Given the description of an element on the screen output the (x, y) to click on. 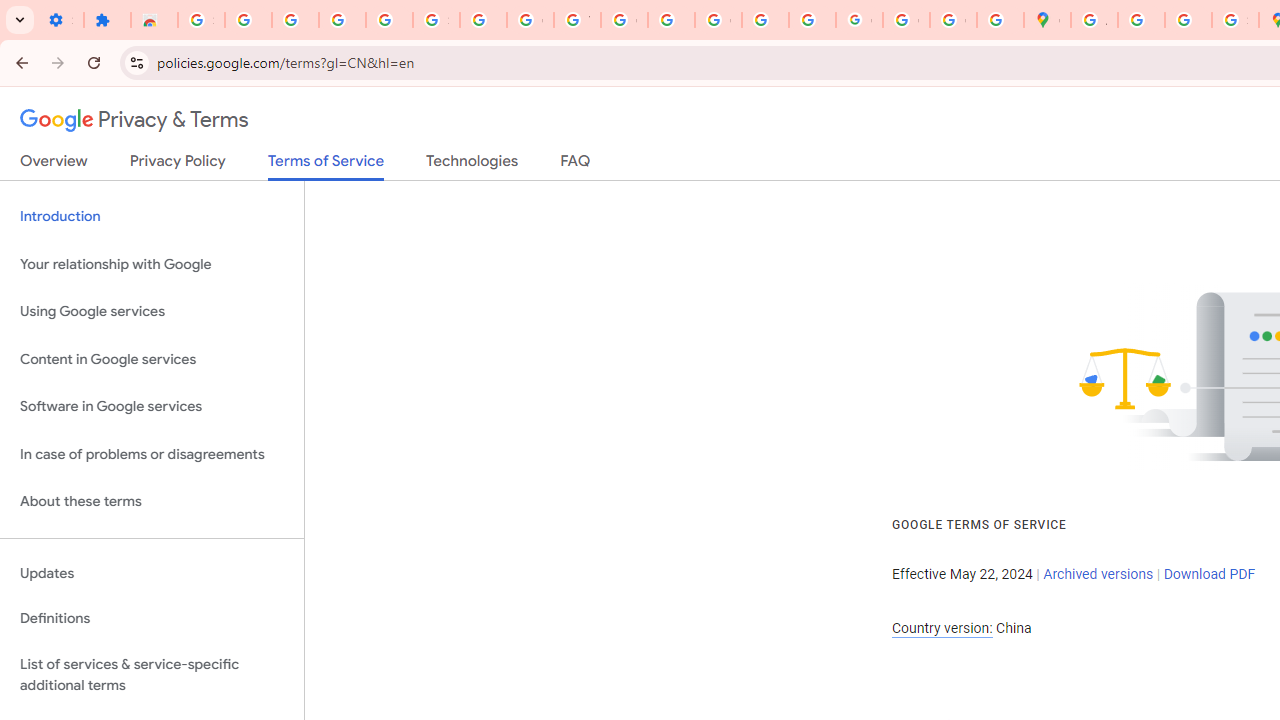
Software in Google services (152, 407)
Content in Google services (152, 358)
Settings - On startup (60, 20)
Introduction (152, 216)
Sign in - Google Accounts (436, 20)
